Given the description of an element on the screen output the (x, y) to click on. 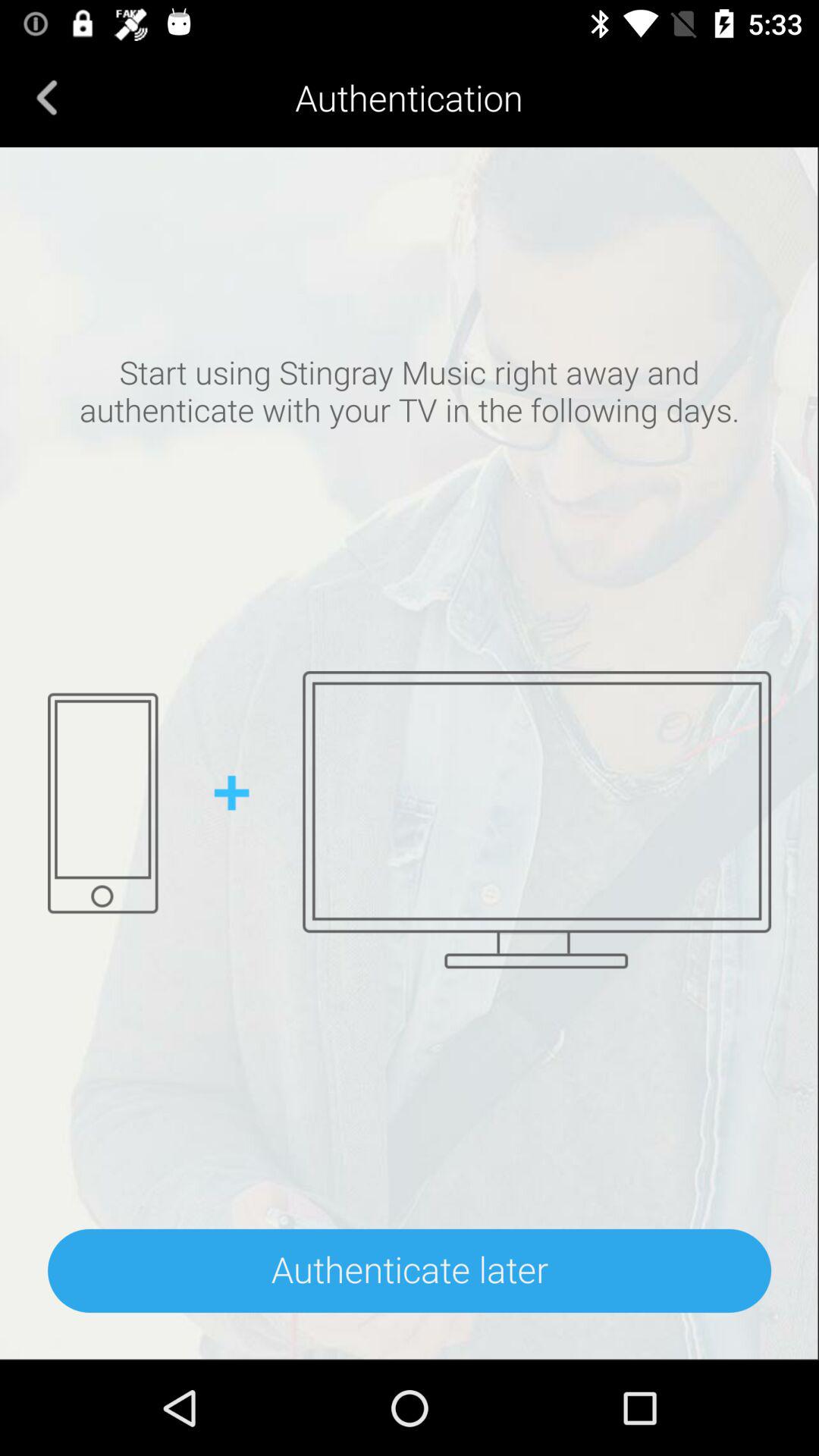
swipe to authenticate later (409, 1270)
